Given the description of an element on the screen output the (x, y) to click on. 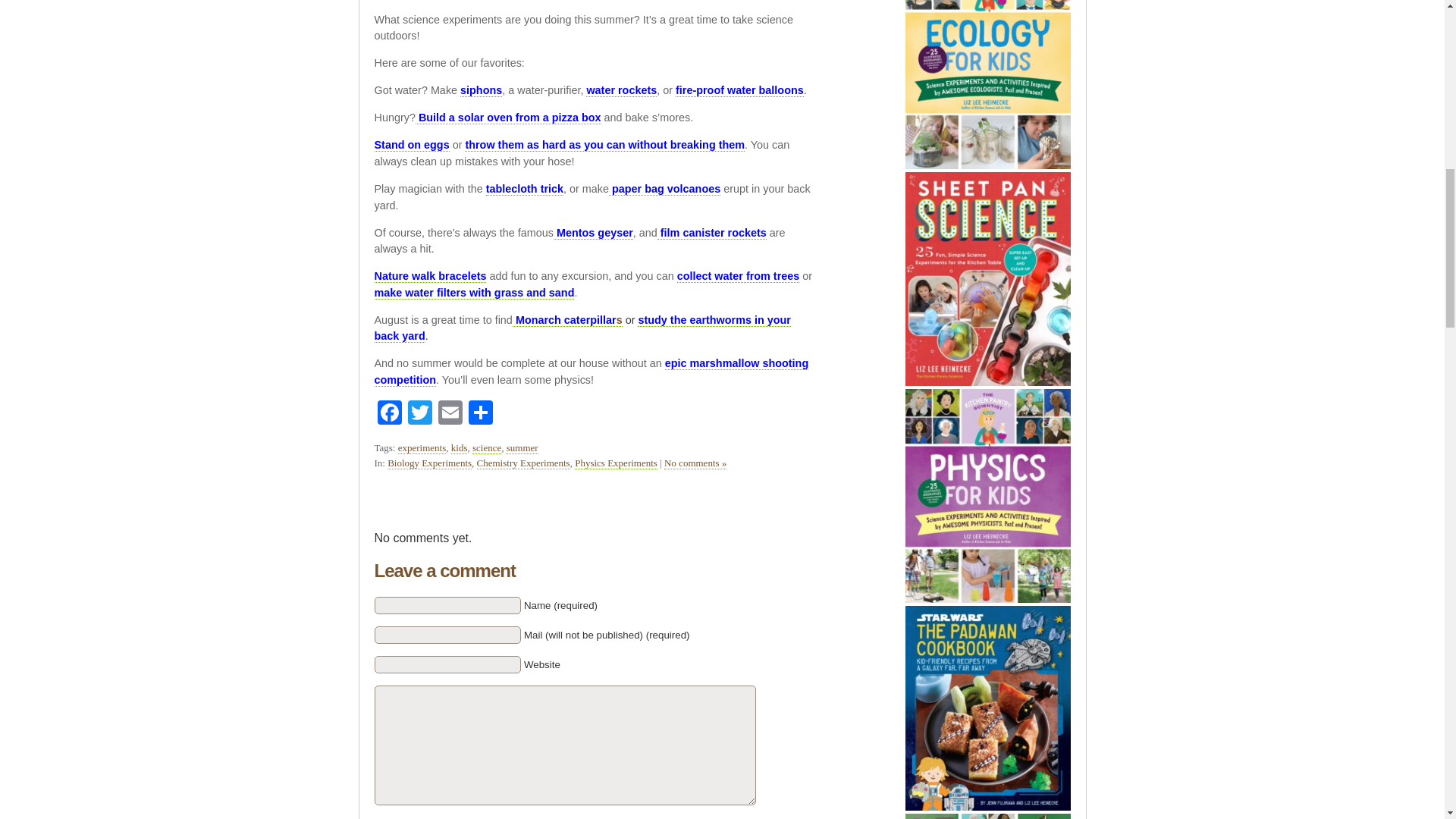
epic marshmallow shooting competition (591, 371)
tablecloth trick (524, 188)
Mentos geyser (593, 232)
kids (459, 448)
 Monarch caterpillars (567, 319)
Build a solar oven from a pizza box (507, 117)
collect water from trees (738, 276)
science (485, 448)
Nature walk bracelets (430, 276)
Biology Experiments (429, 463)
